Given the description of an element on the screen output the (x, y) to click on. 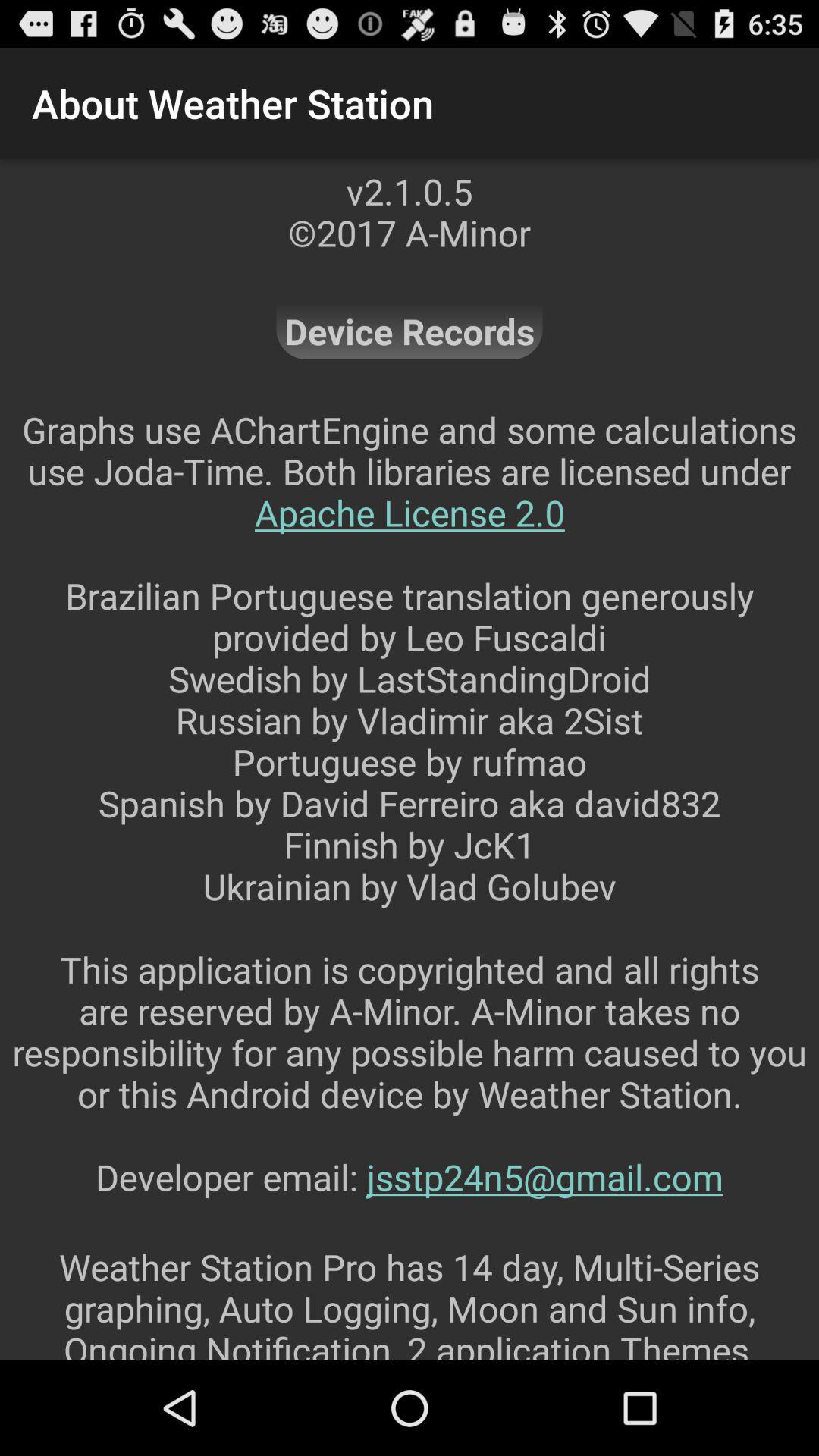
choose the icon above the weather station pro app (409, 823)
